Given the description of an element on the screen output the (x, y) to click on. 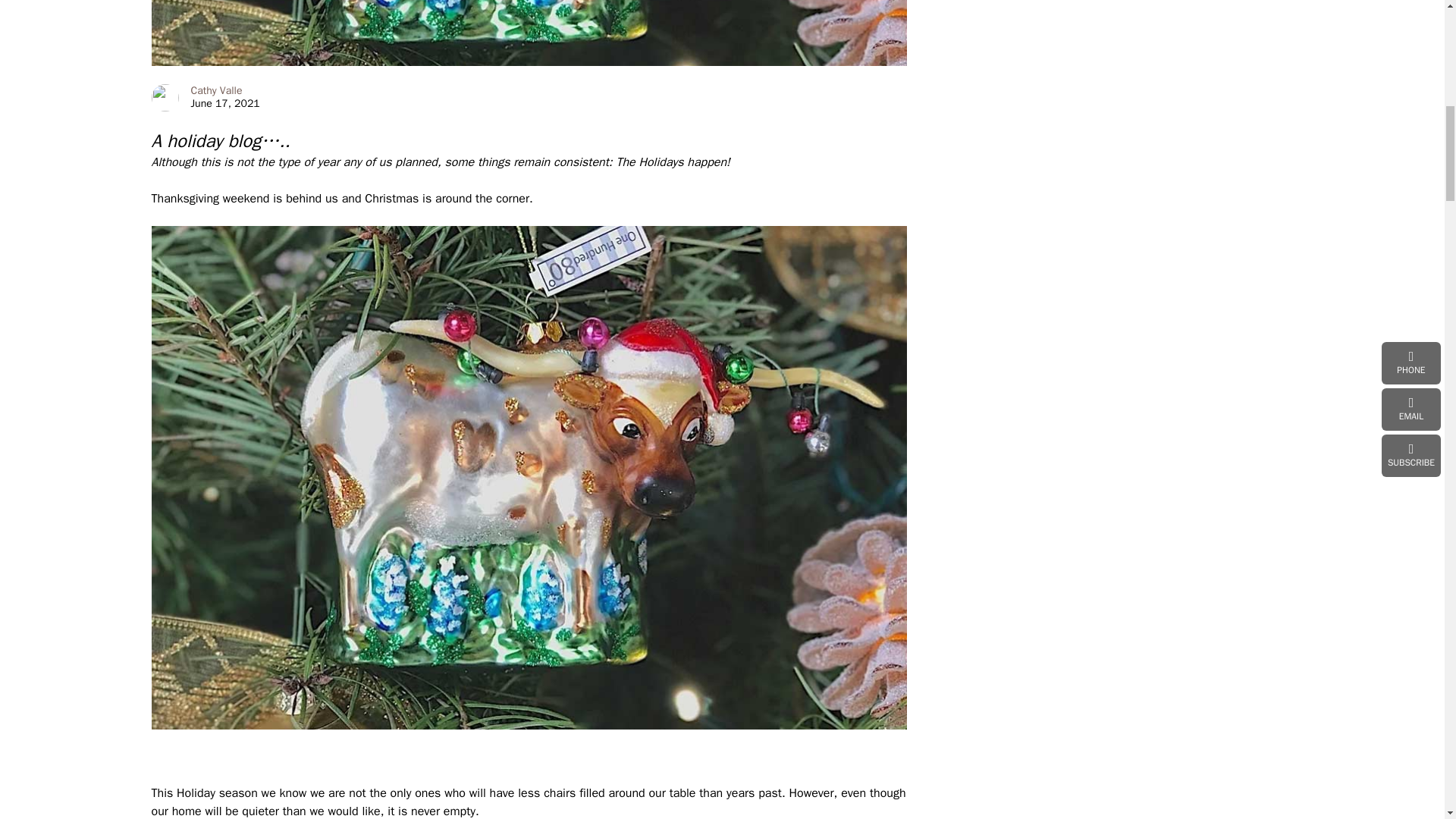
Cathy Valle (216, 90)
